Given the description of an element on the screen output the (x, y) to click on. 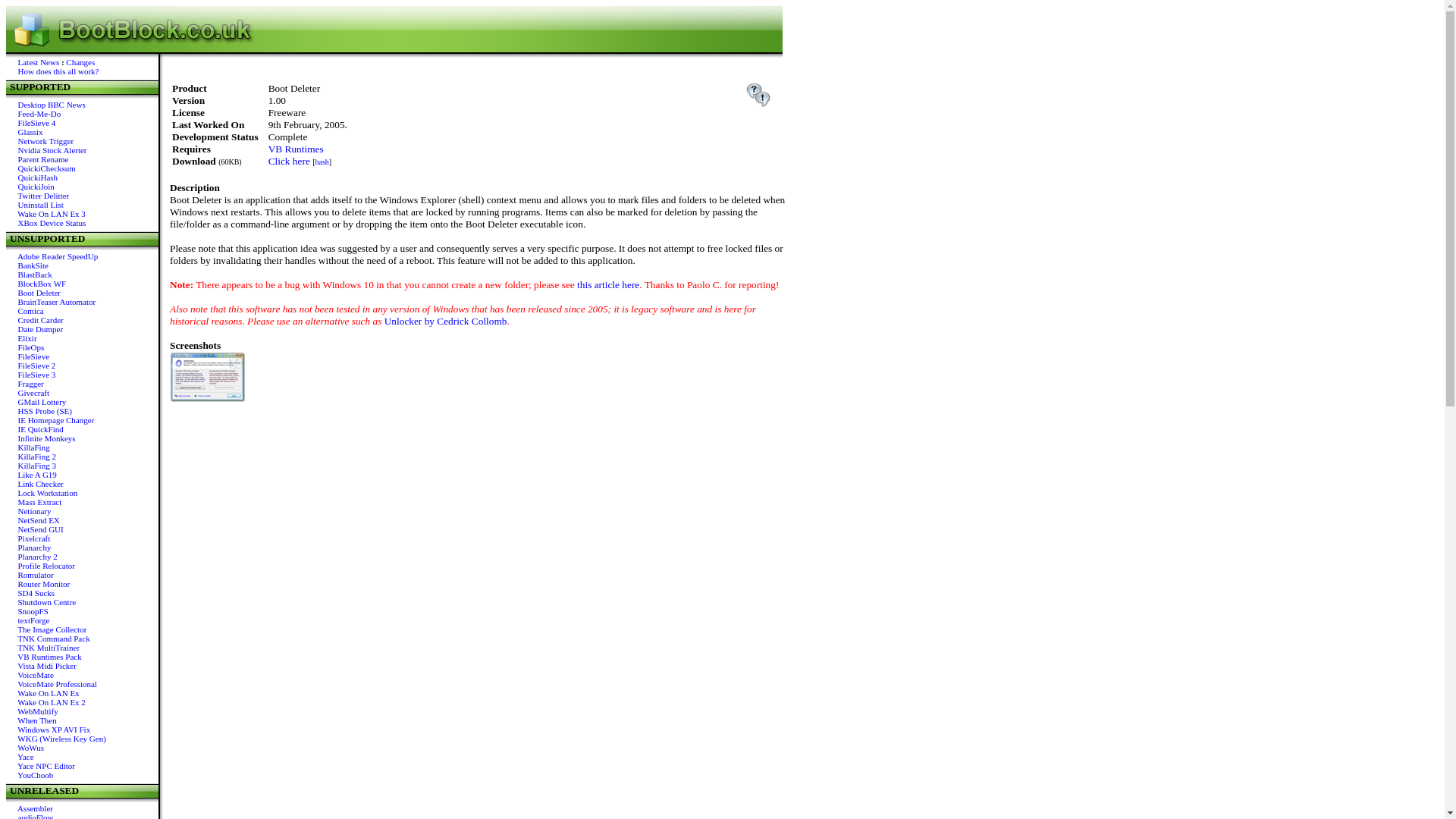
FileSieve 4 (36, 122)
Adobe Reader SpeedUp (57, 256)
Boot Deleter (39, 292)
Glassix (30, 131)
BankSite (32, 265)
Adobe Reader SpeedUp (57, 256)
BrainTeaser Automator (56, 301)
BlastBack (34, 274)
BlockBox WF (41, 283)
Comica (30, 310)
Network Trigger (45, 140)
Credit Carder (40, 319)
Nvidia Stock Alerter (52, 149)
Twitter Delitter (42, 194)
Date Dumper (40, 328)
